Given the description of an element on the screen output the (x, y) to click on. 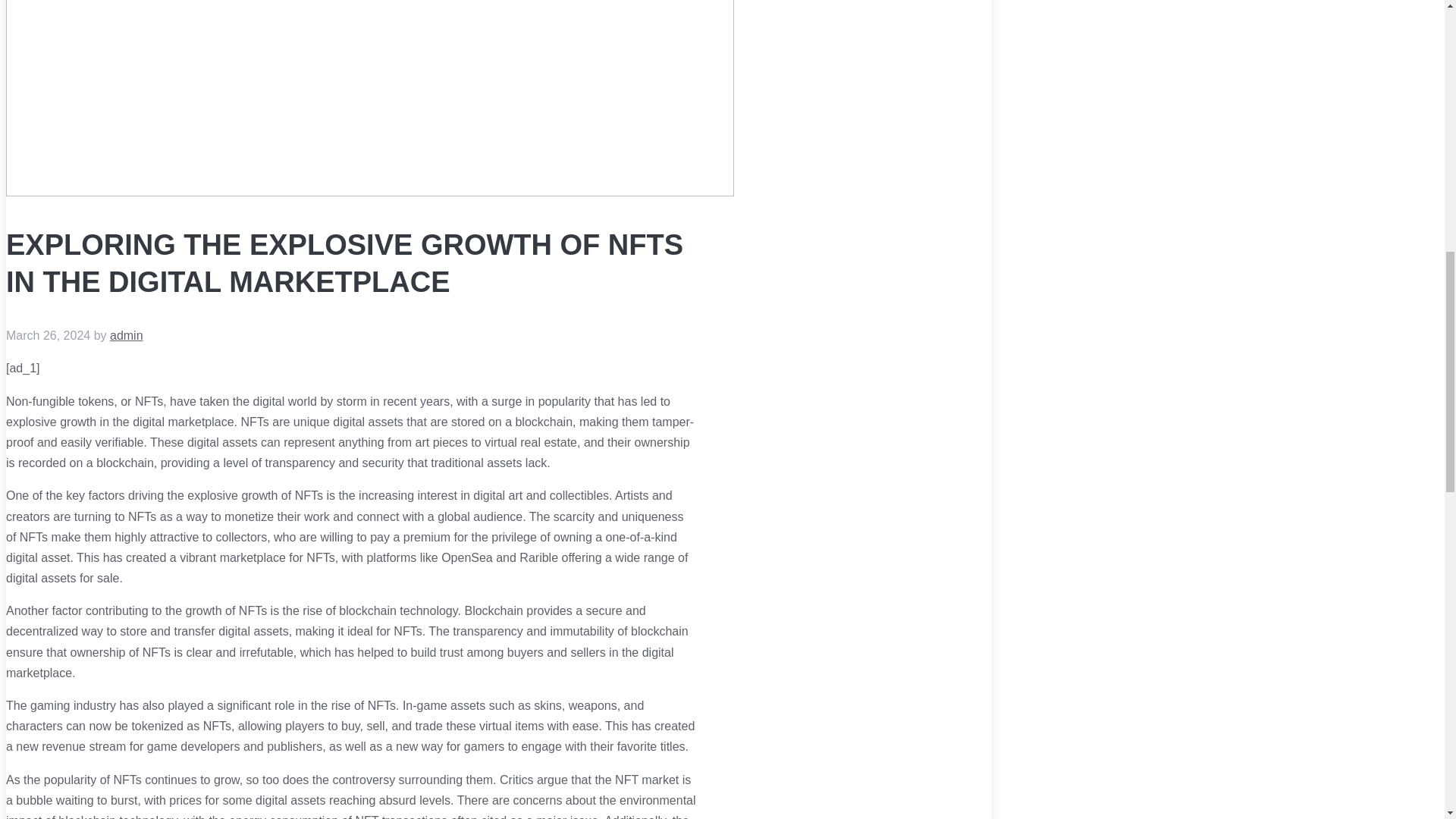
admin (126, 335)
Scroll back to top (1406, 720)
View all posts by admin (126, 335)
